Given the description of an element on the screen output the (x, y) to click on. 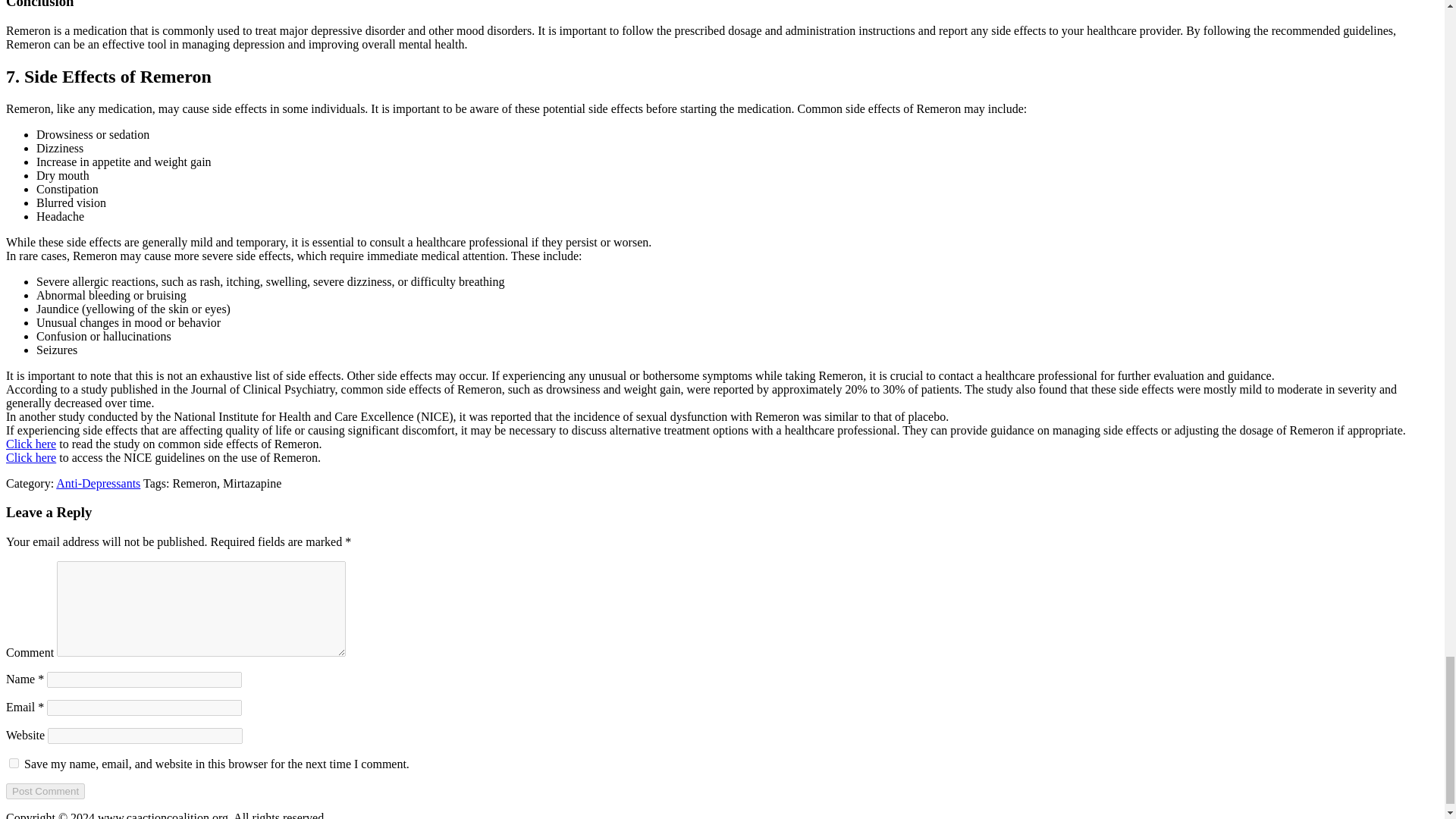
yes (13, 763)
Post Comment (44, 790)
Anti-Depressants (97, 482)
Click here (30, 443)
Click here (30, 457)
Post Comment (44, 790)
